Given the description of an element on the screen output the (x, y) to click on. 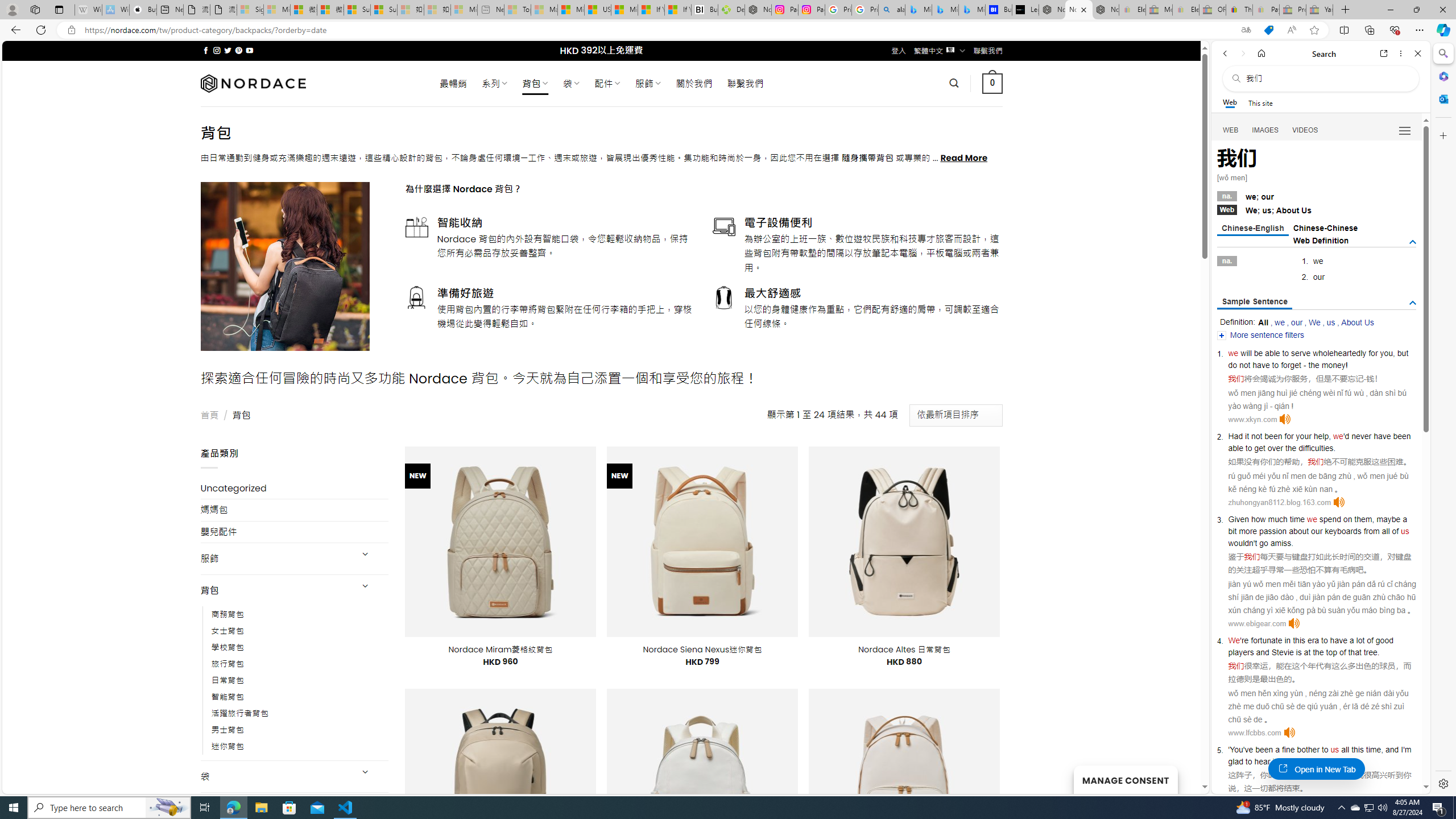
- (1364, 378)
www.xkyn.com (1251, 419)
Follow on Twitter (227, 50)
